Given the description of an element on the screen output the (x, y) to click on. 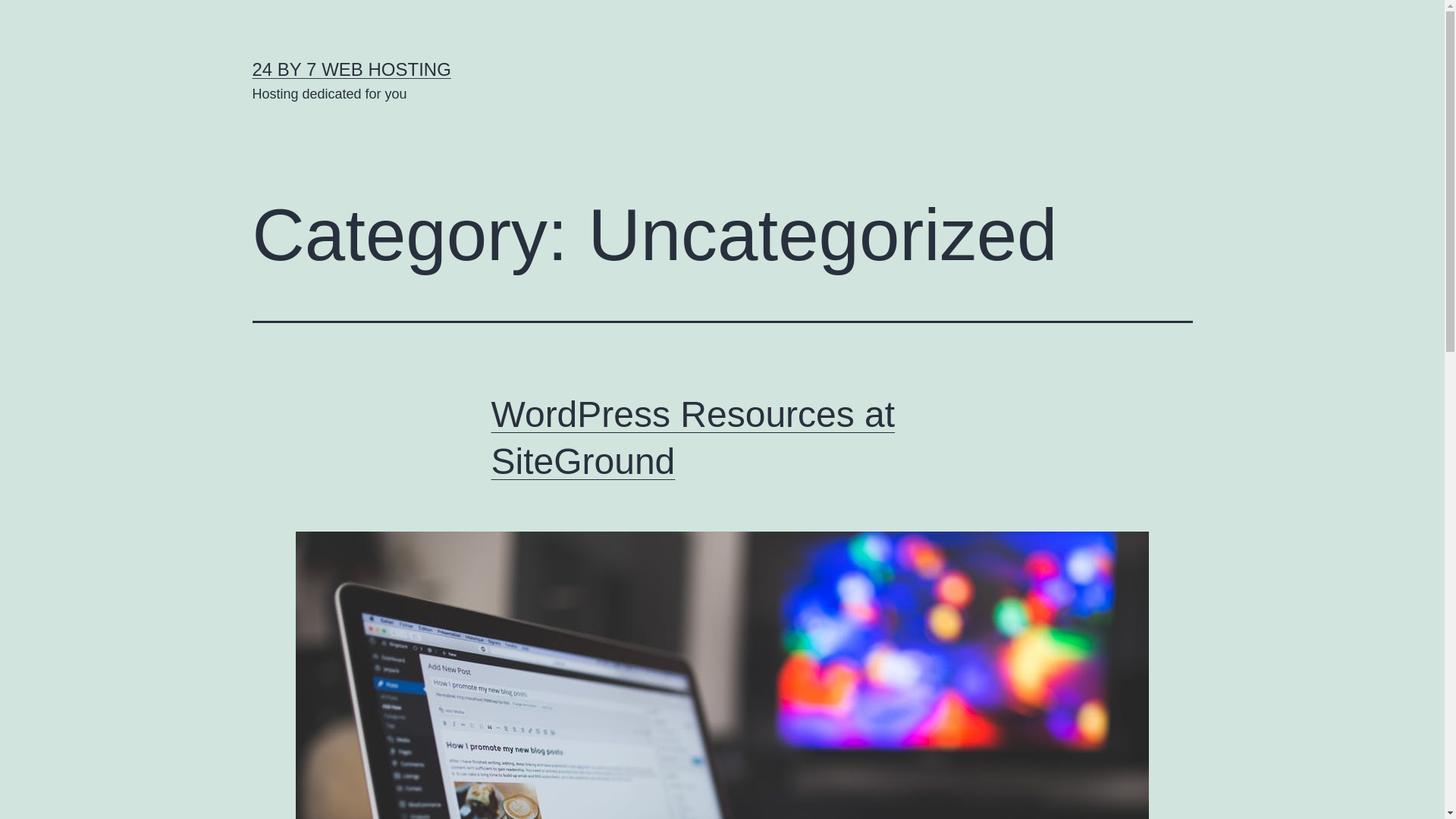
WordPress Resources at SiteGround Element type: text (693, 437)
24 BY 7 WEB HOSTING Element type: text (350, 69)
